Given the description of an element on the screen output the (x, y) to click on. 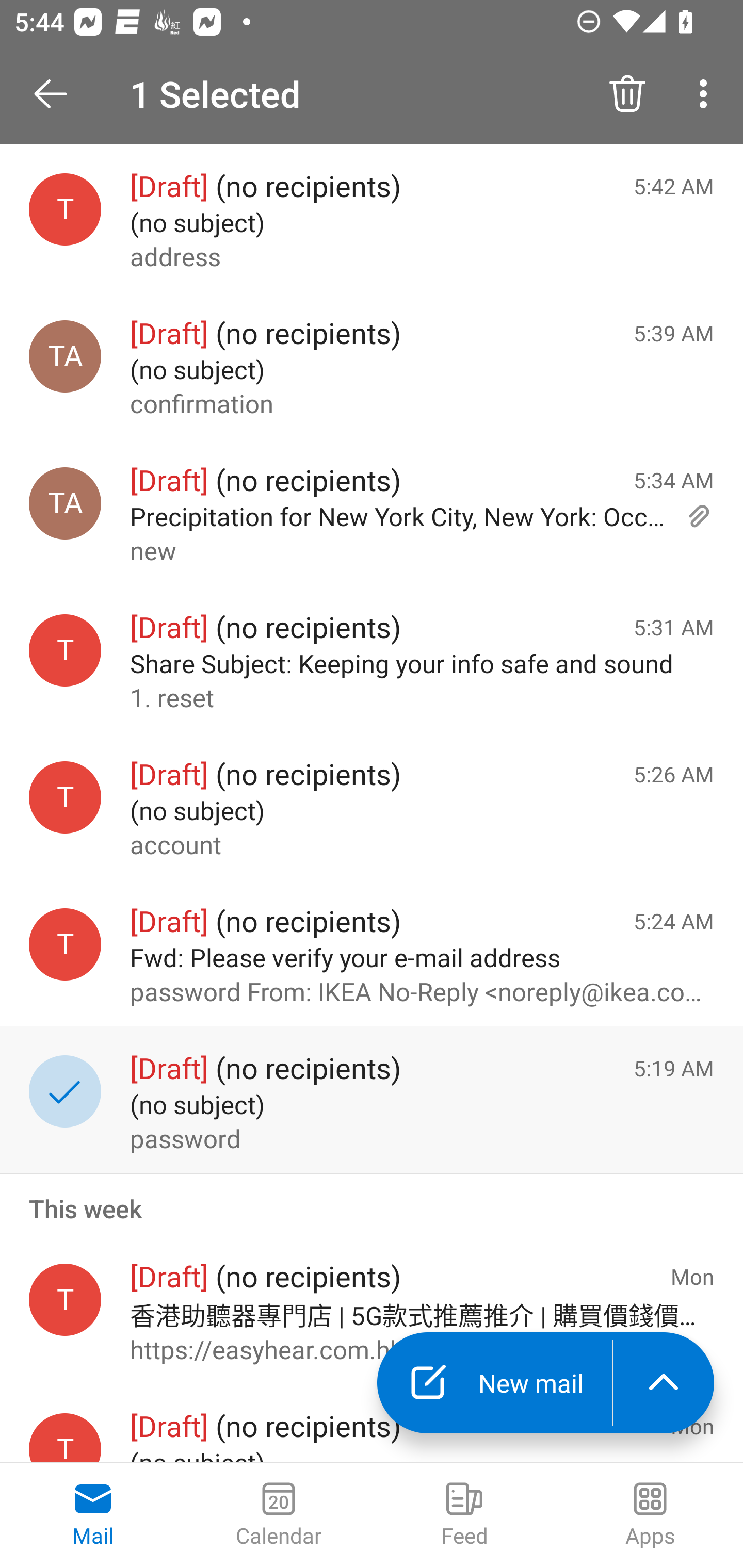
Delete (626, 93)
More options (706, 93)
Open Navigation Drawer (57, 94)
testappium002@outlook.com (64, 210)
Test Appium, testappium002@outlook.com (64, 355)
Test Appium, testappium002@outlook.com (64, 503)
testappium002@outlook.com (64, 650)
testappium002@outlook.com (64, 798)
testappium002@outlook.com (64, 943)
testappium002@outlook.com (64, 1299)
New mail (494, 1382)
launch the extended action menu (663, 1382)
testappium002@outlook.com (64, 1437)
Calendar (278, 1515)
Feed (464, 1515)
Apps (650, 1515)
